Given the description of an element on the screen output the (x, y) to click on. 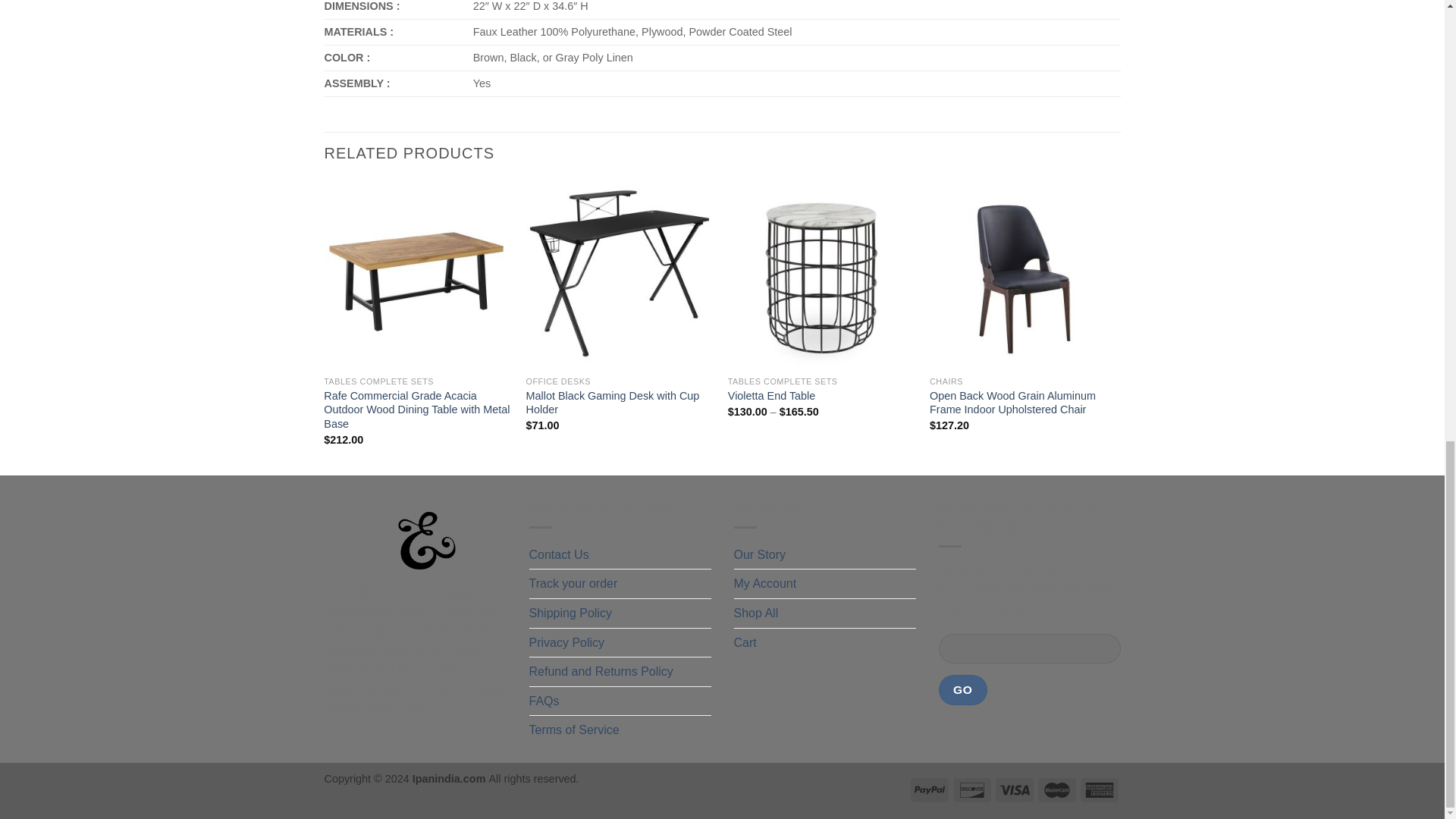
Go (963, 689)
